Given the description of an element on the screen output the (x, y) to click on. 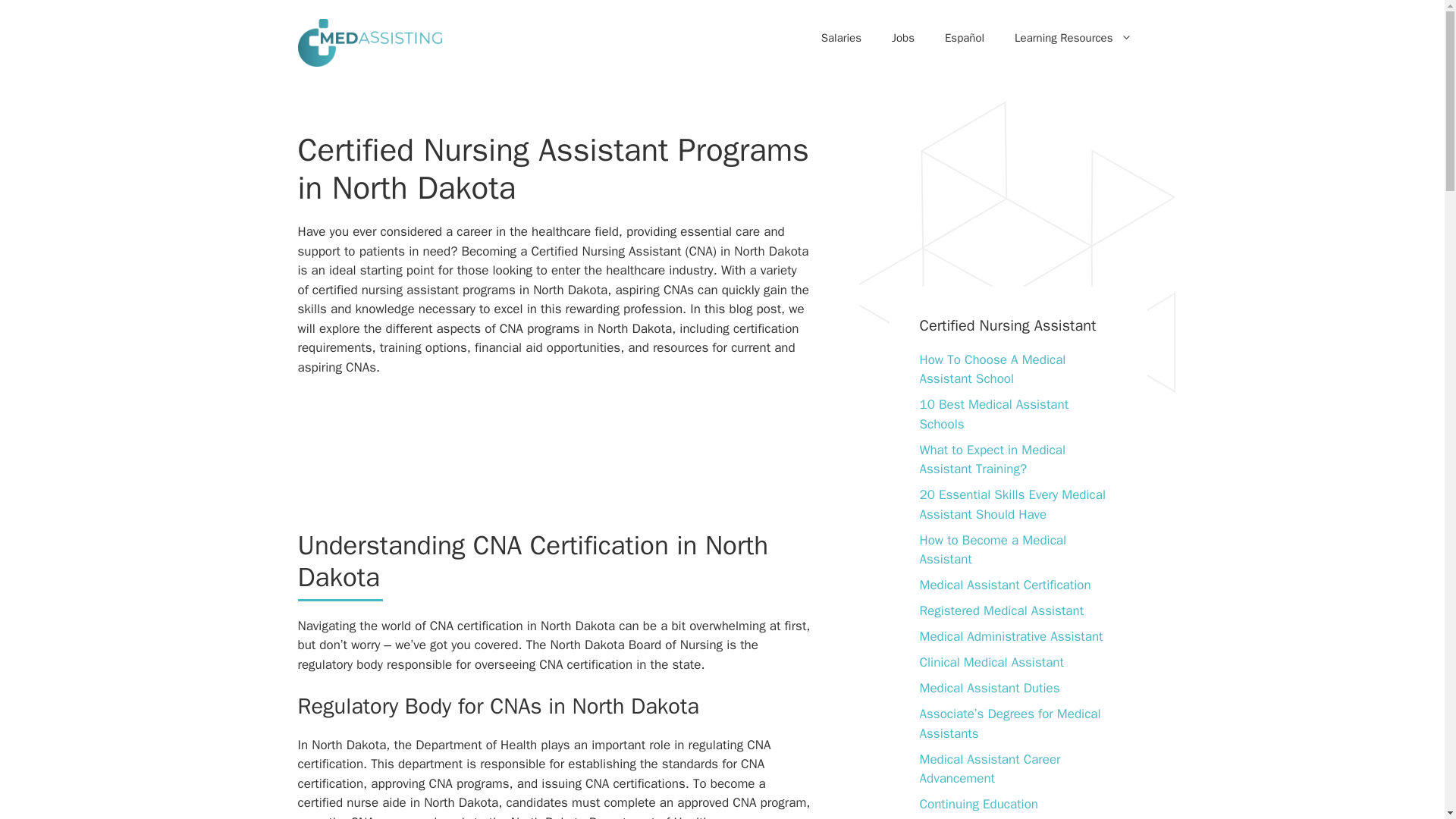
Salaries (841, 39)
How To Choose A Medical Assistant School (991, 369)
Registered Medical Assistant (1000, 610)
What to Expect in Medical Assistant Training? (991, 458)
Learning Resources (1072, 39)
Clinical Medical Assistant (990, 662)
20 Essential Skills Every Medical Assistant Should Have (1011, 504)
Medical Assistant Career Advancement (988, 768)
How to Become a Medical Assistant (991, 550)
Medical Assistant Certification (1004, 584)
